Given the description of an element on the screen output the (x, y) to click on. 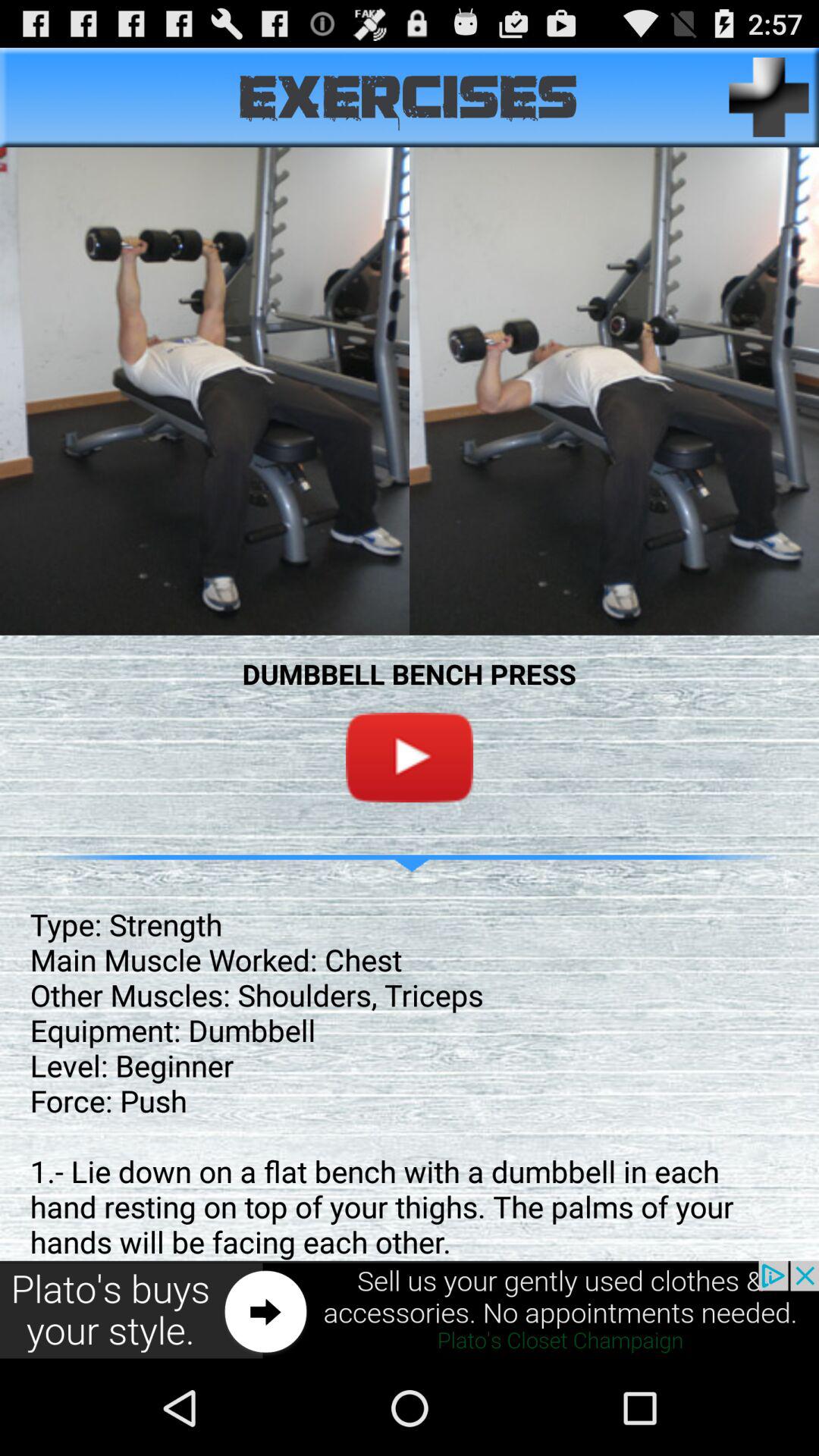
youtube link (409, 757)
